Given the description of an element on the screen output the (x, y) to click on. 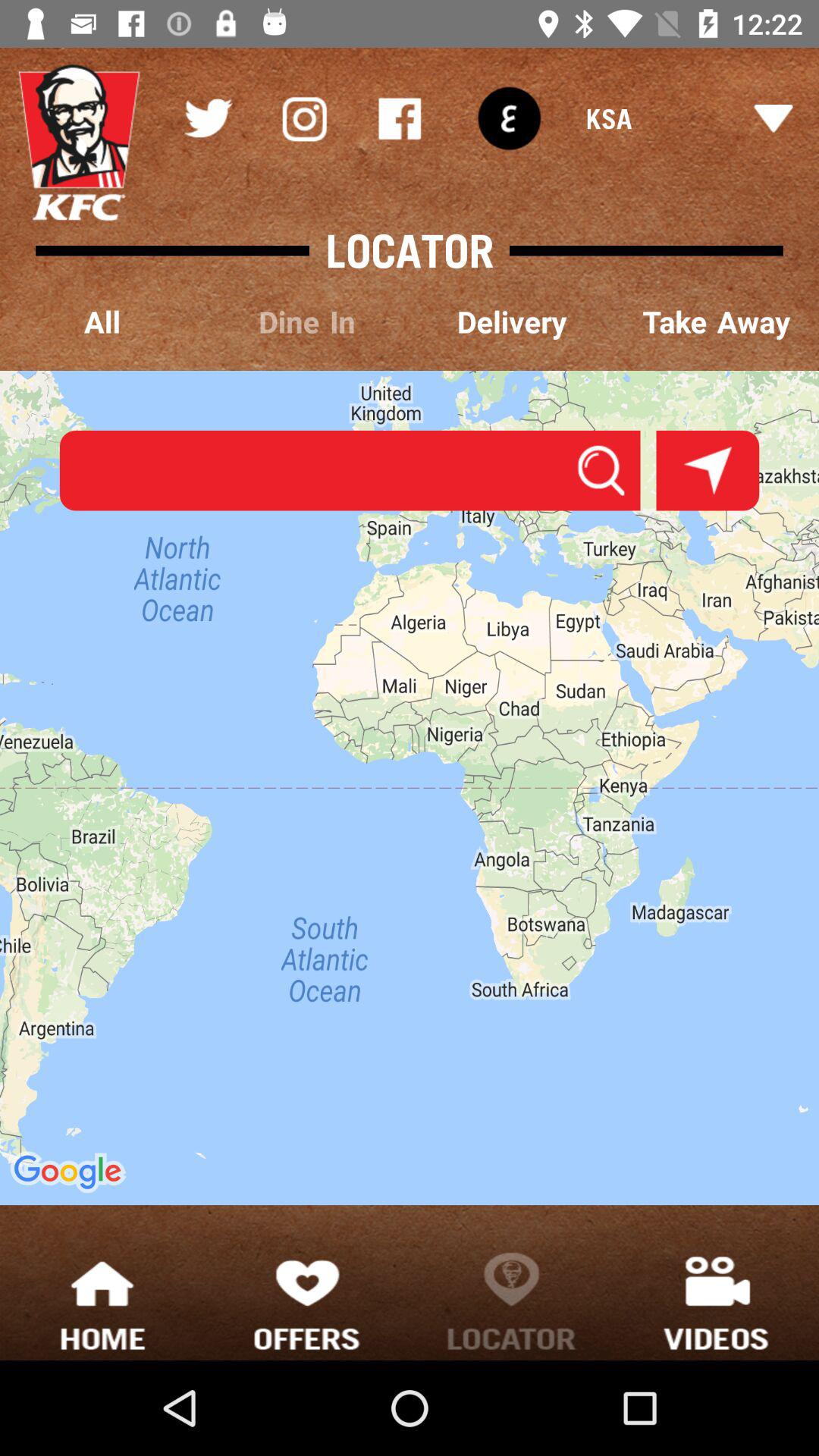
turn off item next to the dine in icon (102, 322)
